Given the description of an element on the screen output the (x, y) to click on. 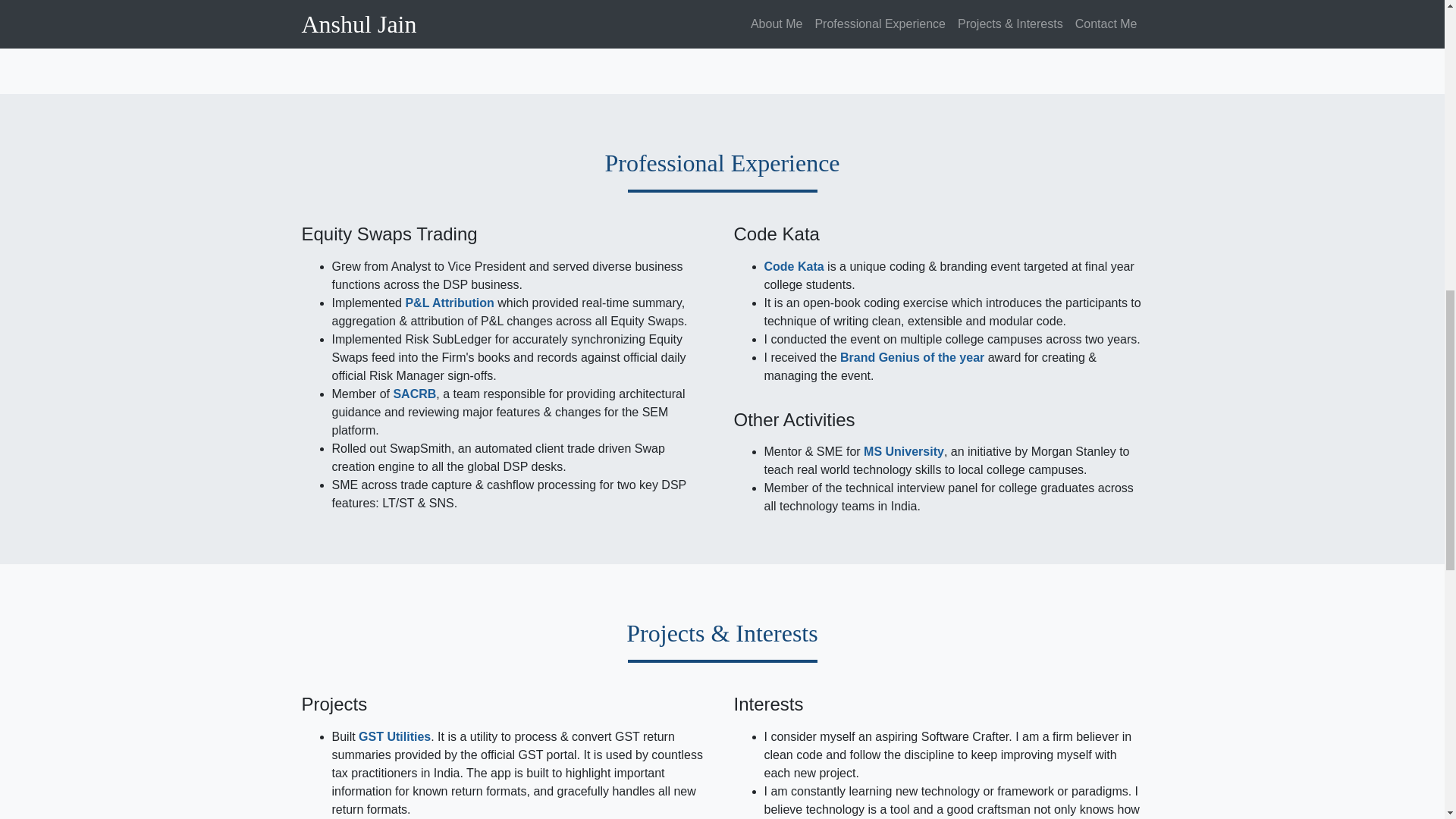
GST Utilities (394, 736)
